Given the description of an element on the screen output the (x, y) to click on. 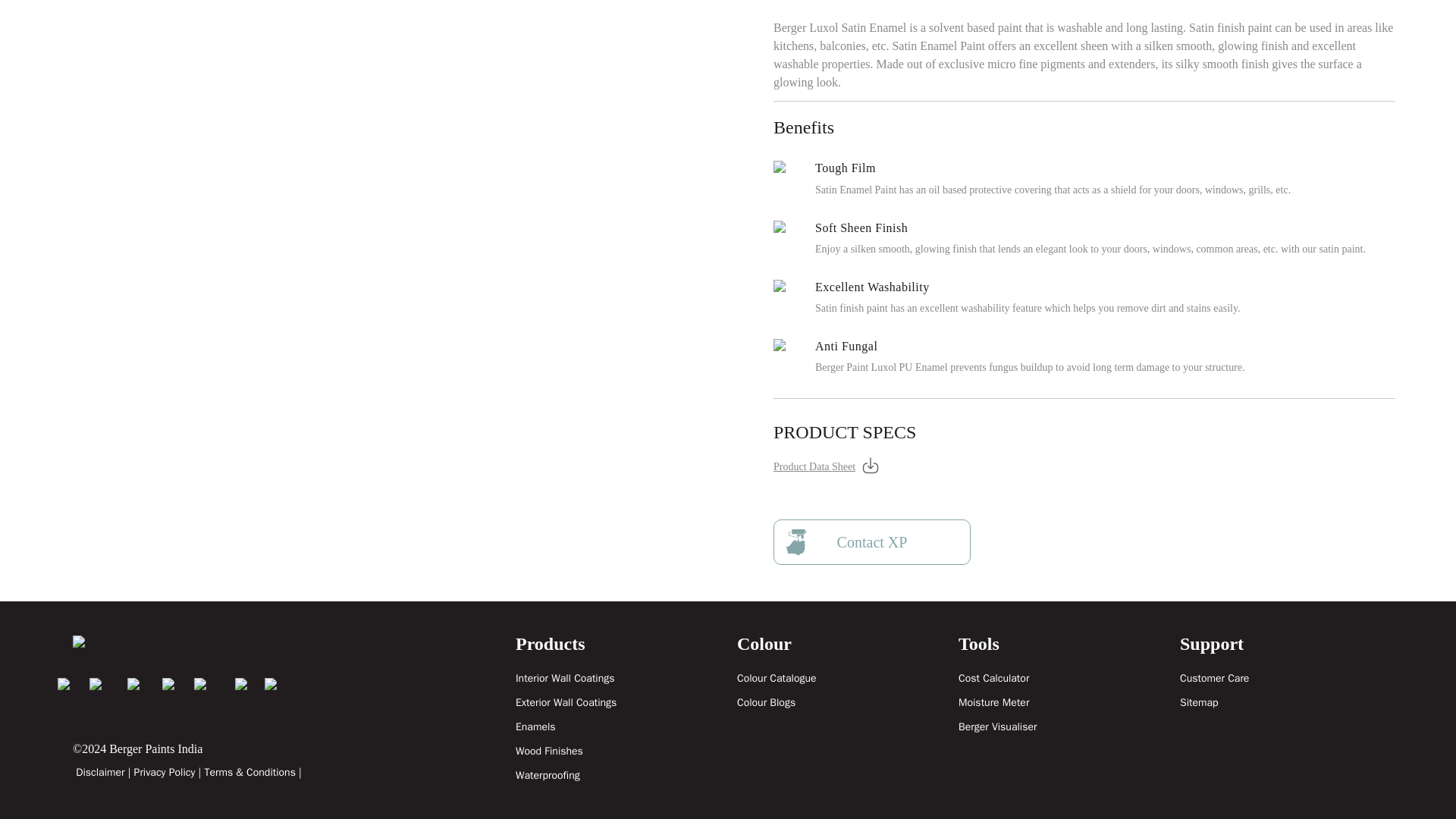
Waterproofing (547, 775)
Colour Blogs (765, 702)
Cost Calculator (993, 677)
Interior Wall Coatings (564, 677)
Wood Finishes (549, 750)
Moisture Meter (993, 702)
Exterior Wall Coatings (565, 702)
Colour Catalogue (776, 677)
Enamels (535, 726)
Contact XP (872, 542)
